Given the description of an element on the screen output the (x, y) to click on. 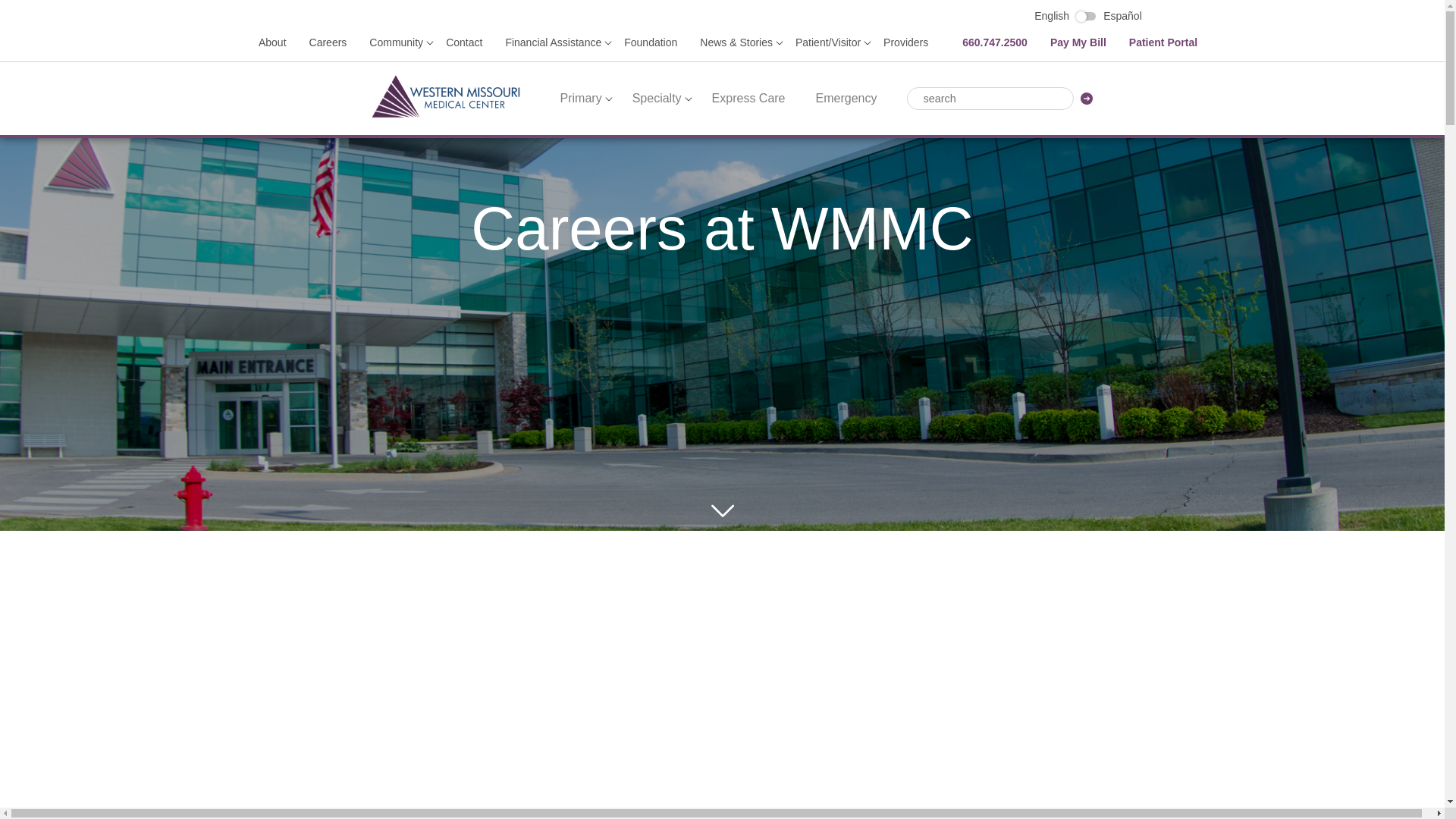
Patient Portal (1162, 43)
Financial Assistance (553, 43)
Foundation (650, 43)
Pay My Bill (1077, 43)
Contact (463, 43)
Careers (327, 43)
660.747.2500 (994, 43)
About (272, 43)
Providers (905, 43)
Community (396, 43)
